Given the description of an element on the screen output the (x, y) to click on. 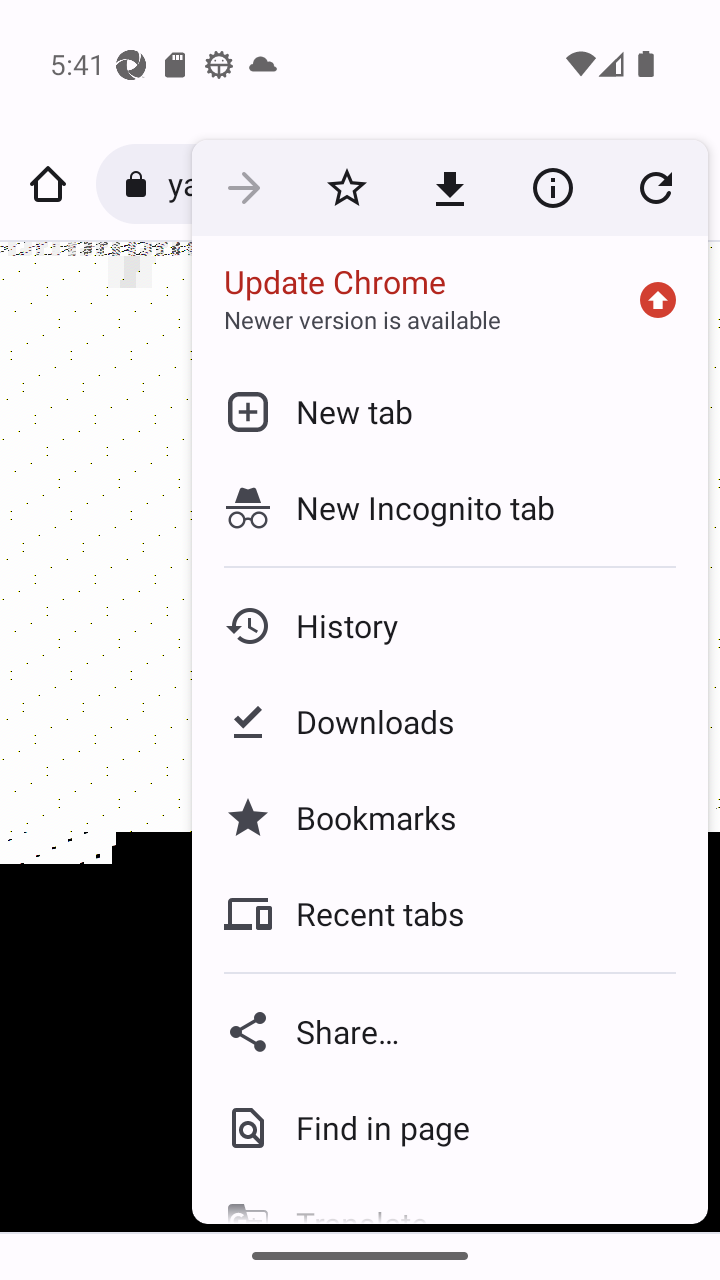
Forward (243, 187)
Bookmark (346, 187)
Download (449, 187)
Page info (552, 187)
Refresh (655, 187)
New tab (449, 411)
New Incognito tab (449, 507)
History (449, 626)
Downloads (449, 722)
Bookmarks (449, 818)
Recent tabs (449, 914)
Share… (449, 1032)
Find in page (449, 1128)
